Given the description of an element on the screen output the (x, y) to click on. 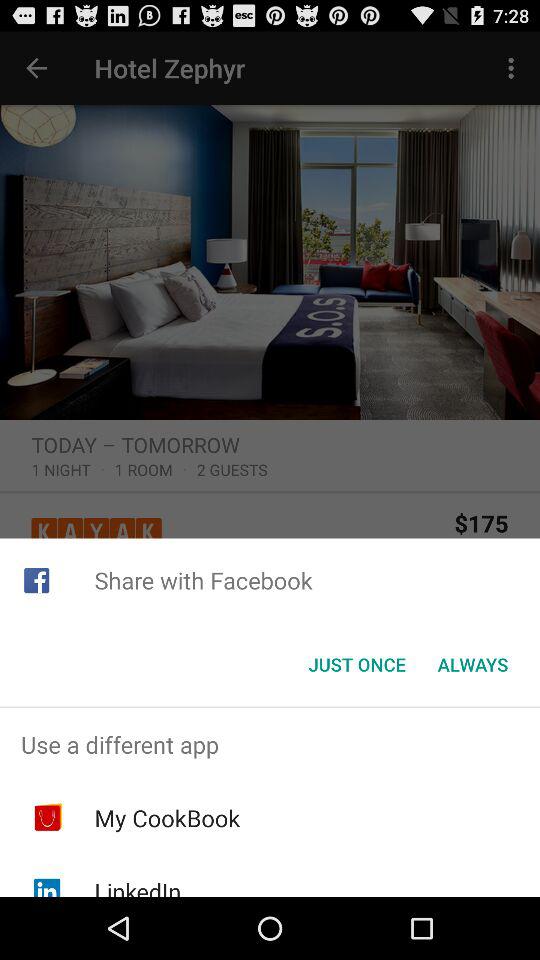
jump to the my cookbook (167, 817)
